Given the description of an element on the screen output the (x, y) to click on. 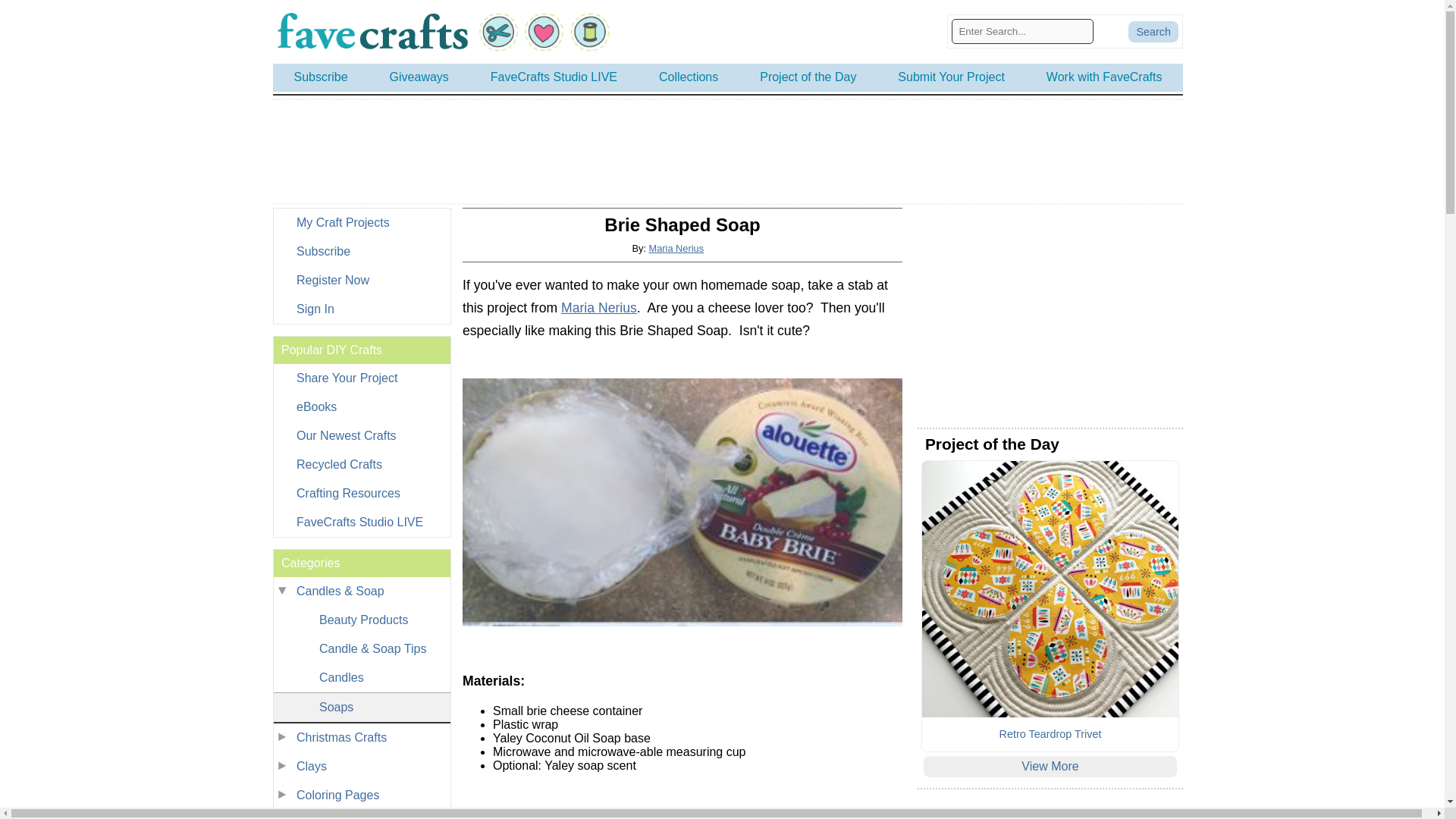
My Craft Projects (361, 222)
Register Now (361, 280)
Sign In (361, 308)
Search (1152, 31)
Subscribe (361, 251)
